Given the description of an element on the screen output the (x, y) to click on. 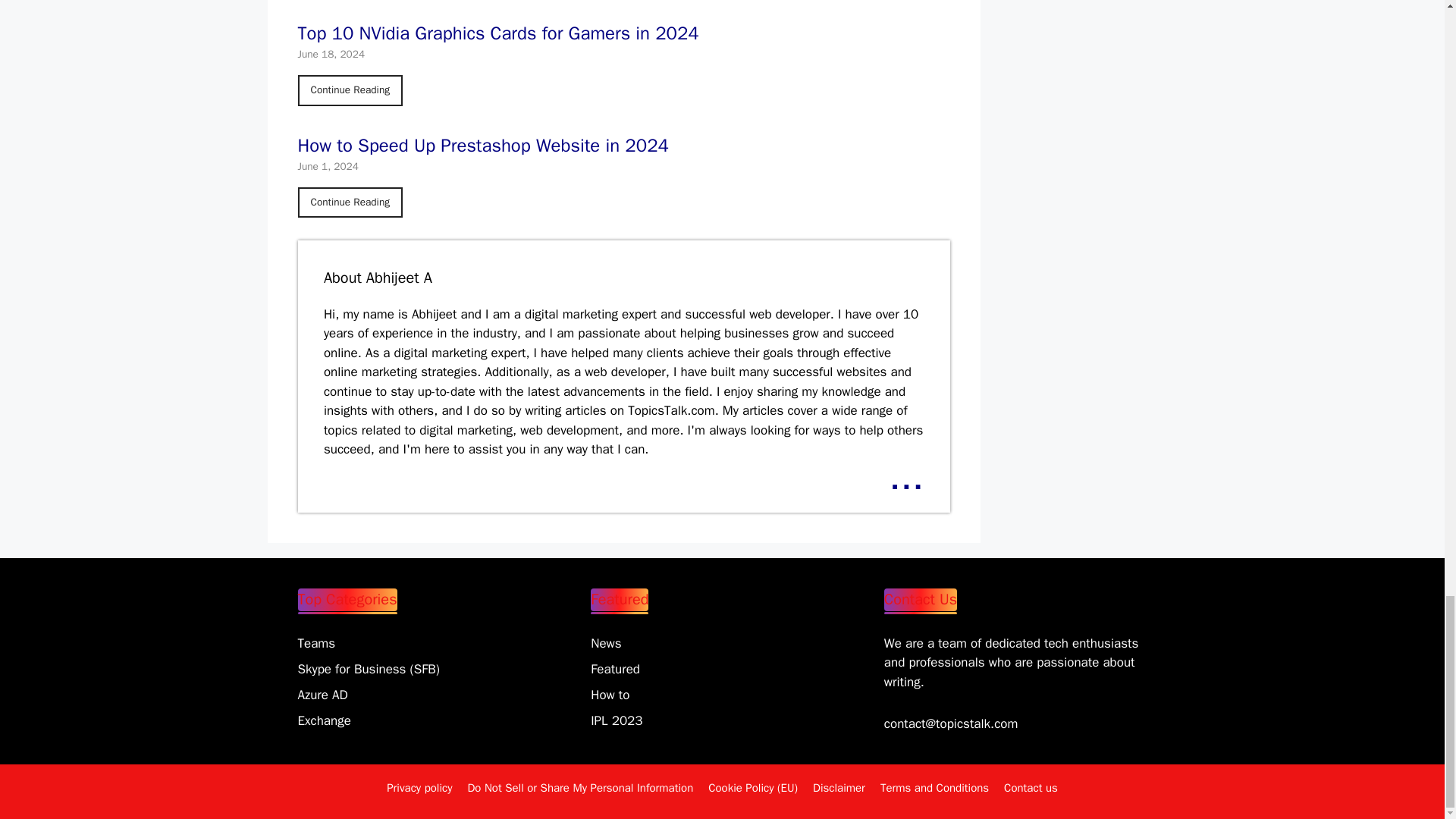
How to Speed Up Prestashop Website in 2024 (350, 202)
Read more (905, 476)
Top 10 NVidia Graphics Cards for Gamers in 2024 (350, 90)
12:46 pm (327, 165)
4:44 pm (331, 53)
